Given the description of an element on the screen output the (x, y) to click on. 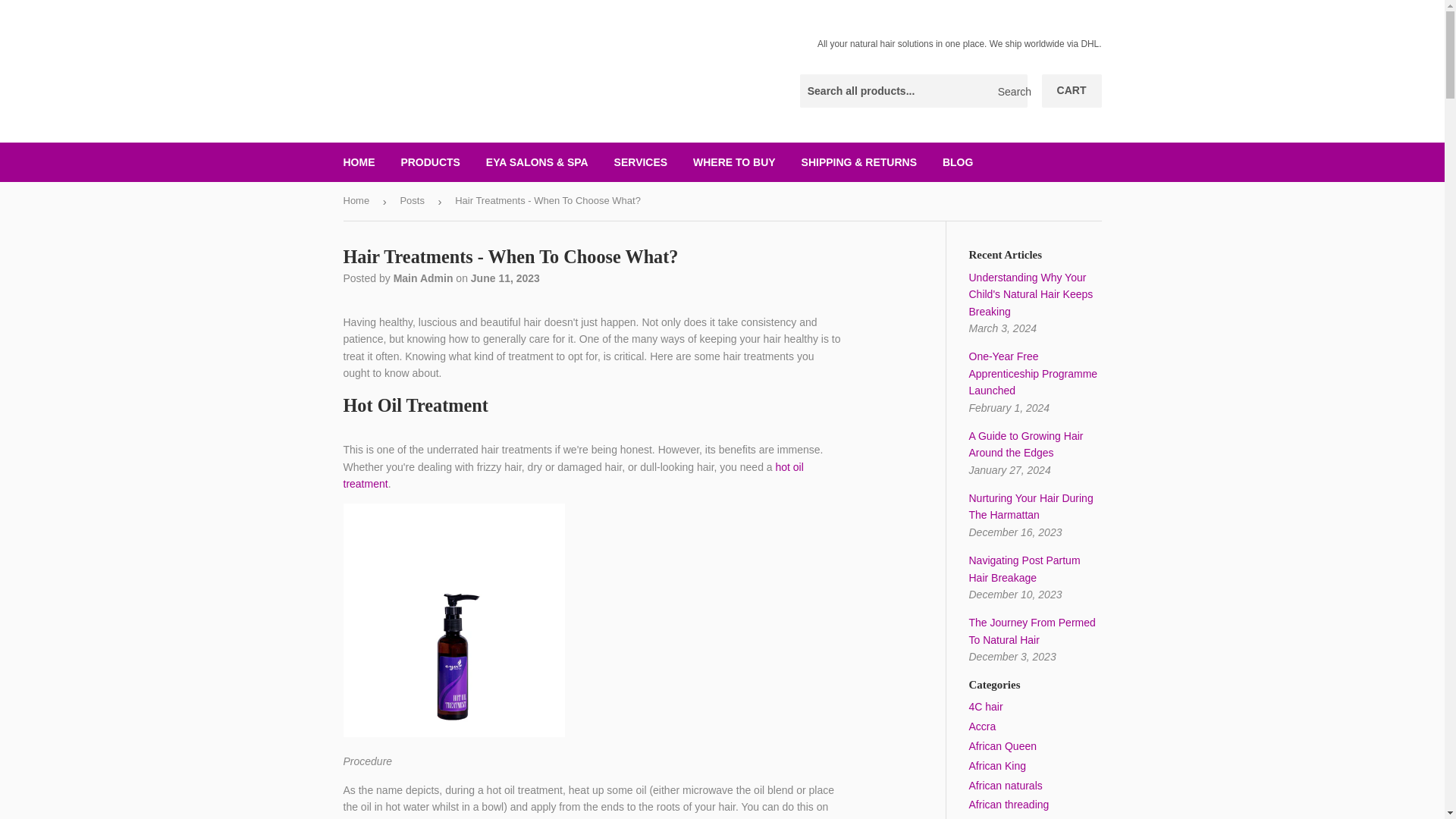
WHERE TO BUY (734, 161)
Show articles tagged African King (997, 766)
Show articles tagged African  Queen (1002, 746)
Show articles tagged Accra (982, 726)
BLOG (957, 161)
Show articles tagged African threading (1009, 804)
SERVICES (640, 161)
CART (1072, 90)
HOME (359, 161)
